Given the description of an element on the screen output the (x, y) to click on. 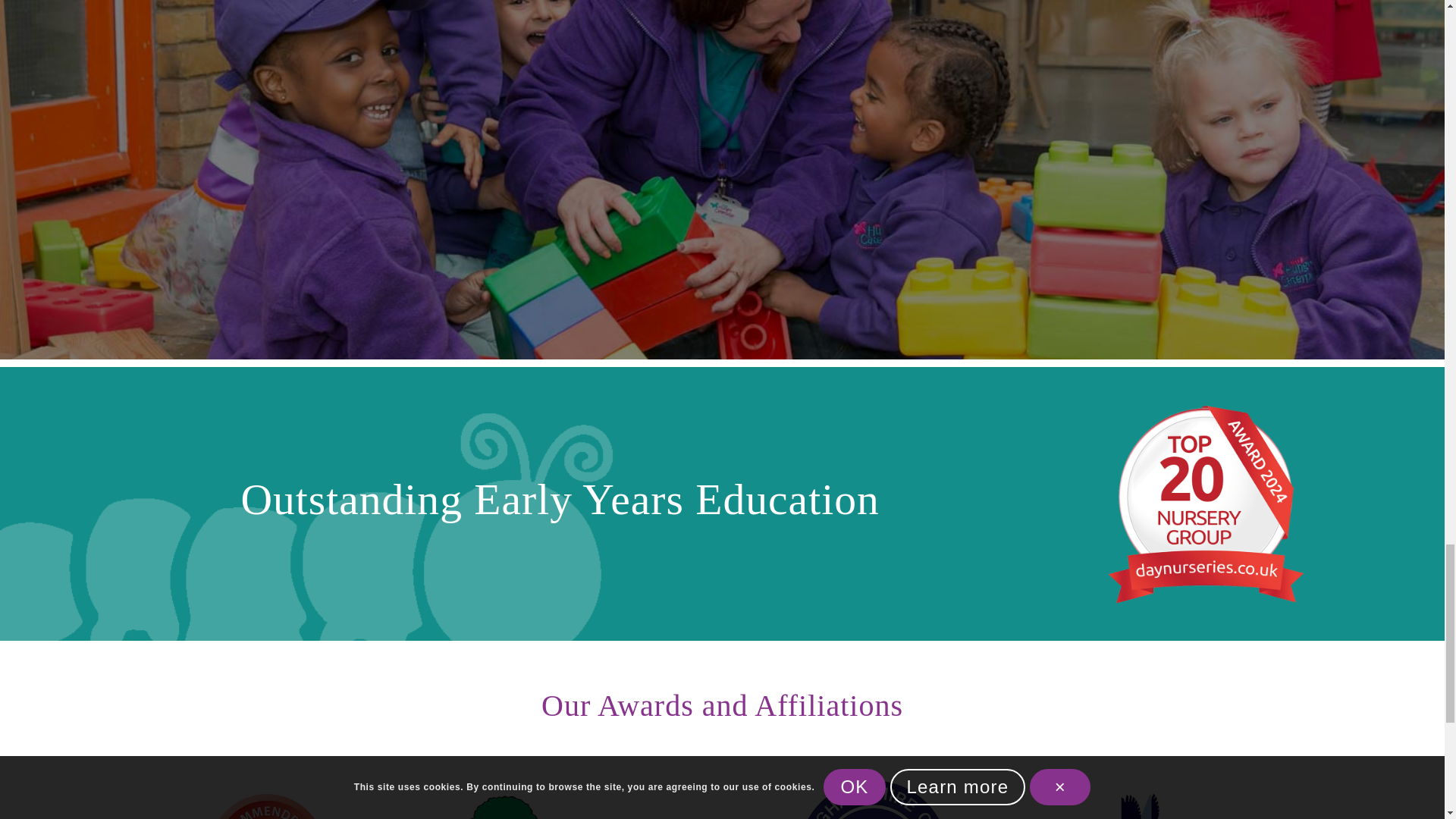
2024-Top-20-Nursery-Group-banner (1209, 503)
